Given the description of an element on the screen output the (x, y) to click on. 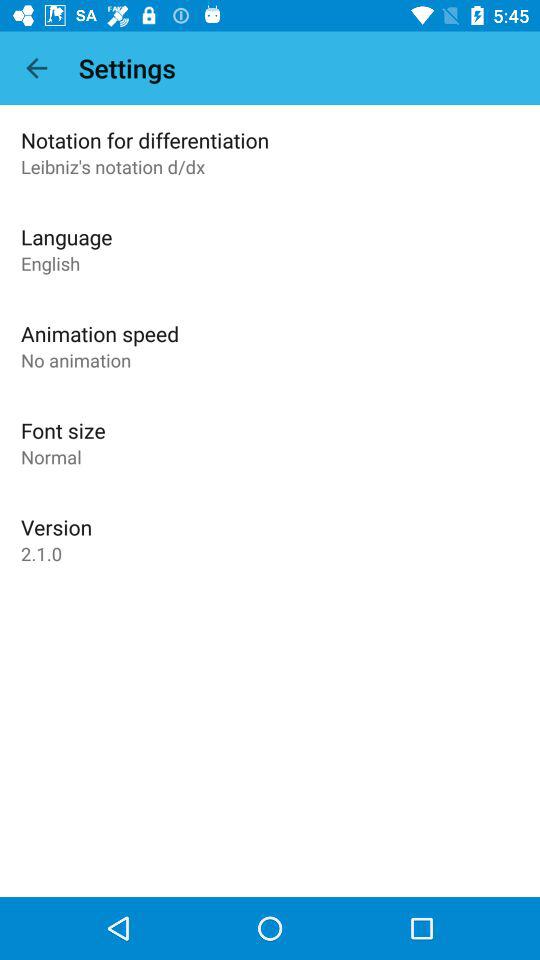
swipe to the language icon (66, 236)
